Given the description of an element on the screen output the (x, y) to click on. 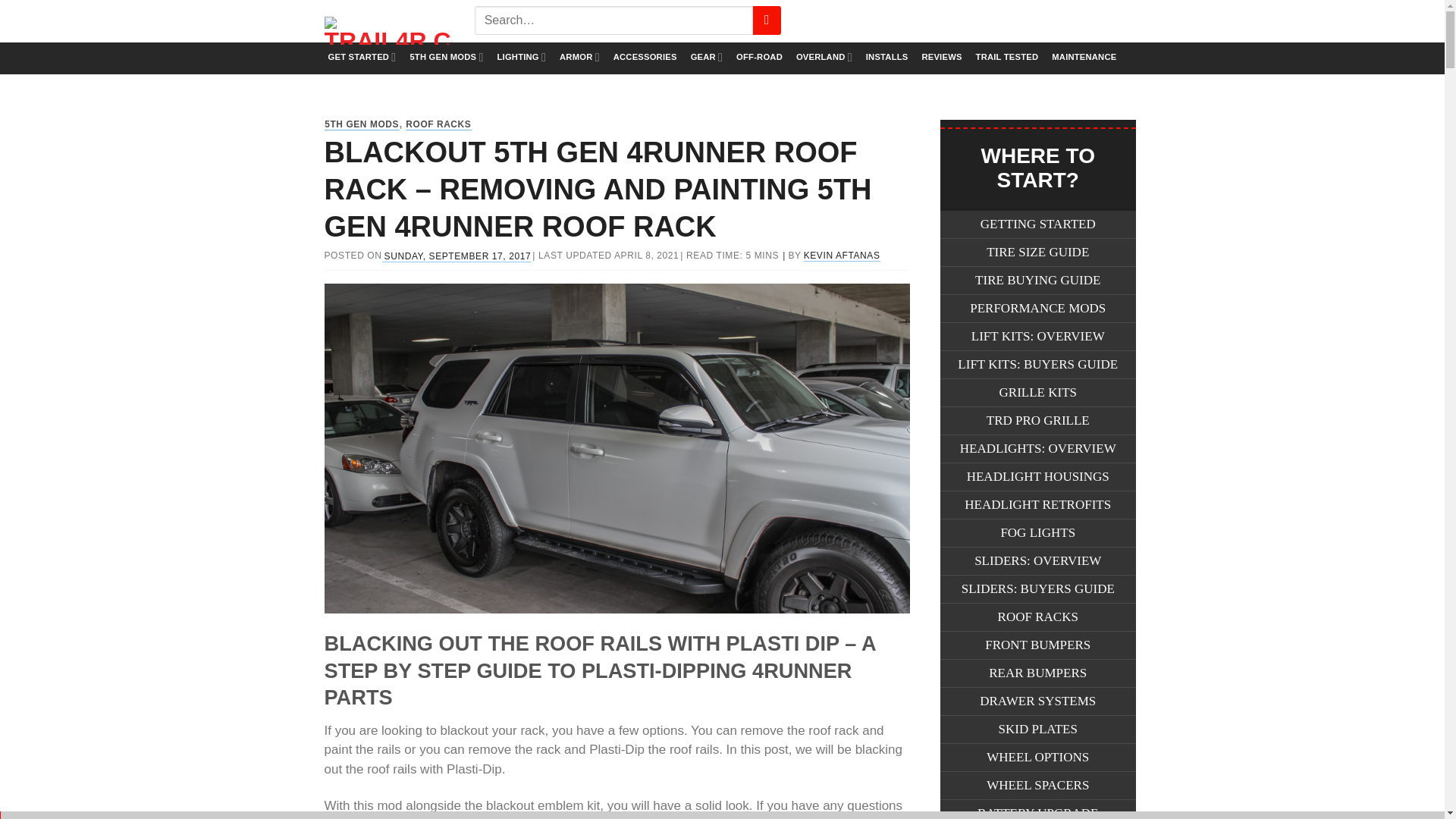
5TH GEN MODS (446, 58)
VIDEO (1012, 20)
GET STARTED (362, 58)
CONTACT (1087, 20)
HOME (884, 20)
LIGHTING (522, 58)
SHOP (949, 20)
ARMOR (579, 58)
